Given the description of an element on the screen output the (x, y) to click on. 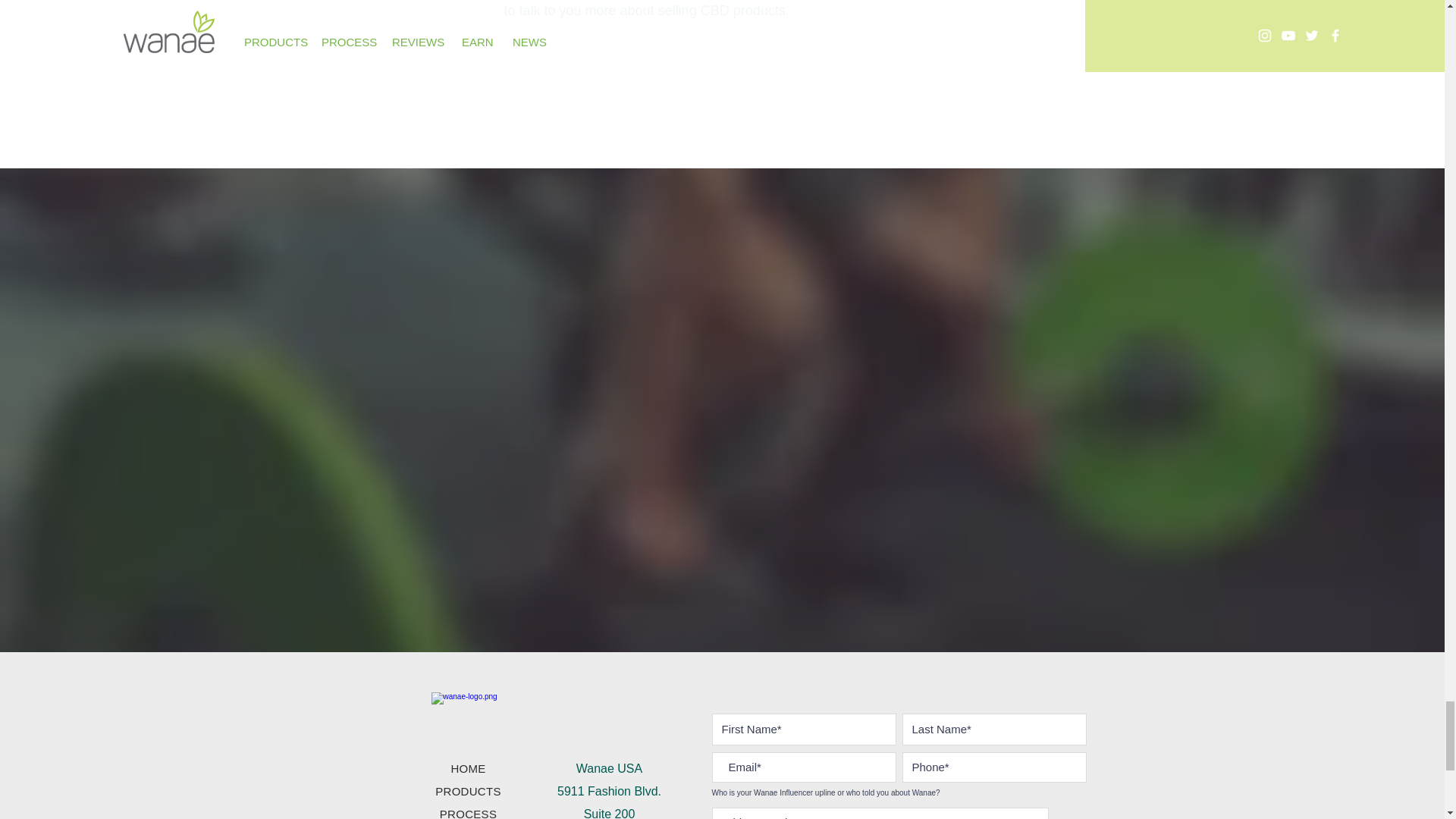
HOME (466, 768)
PRODUCTS (467, 790)
PROCESS (467, 813)
